Given the description of an element on the screen output the (x, y) to click on. 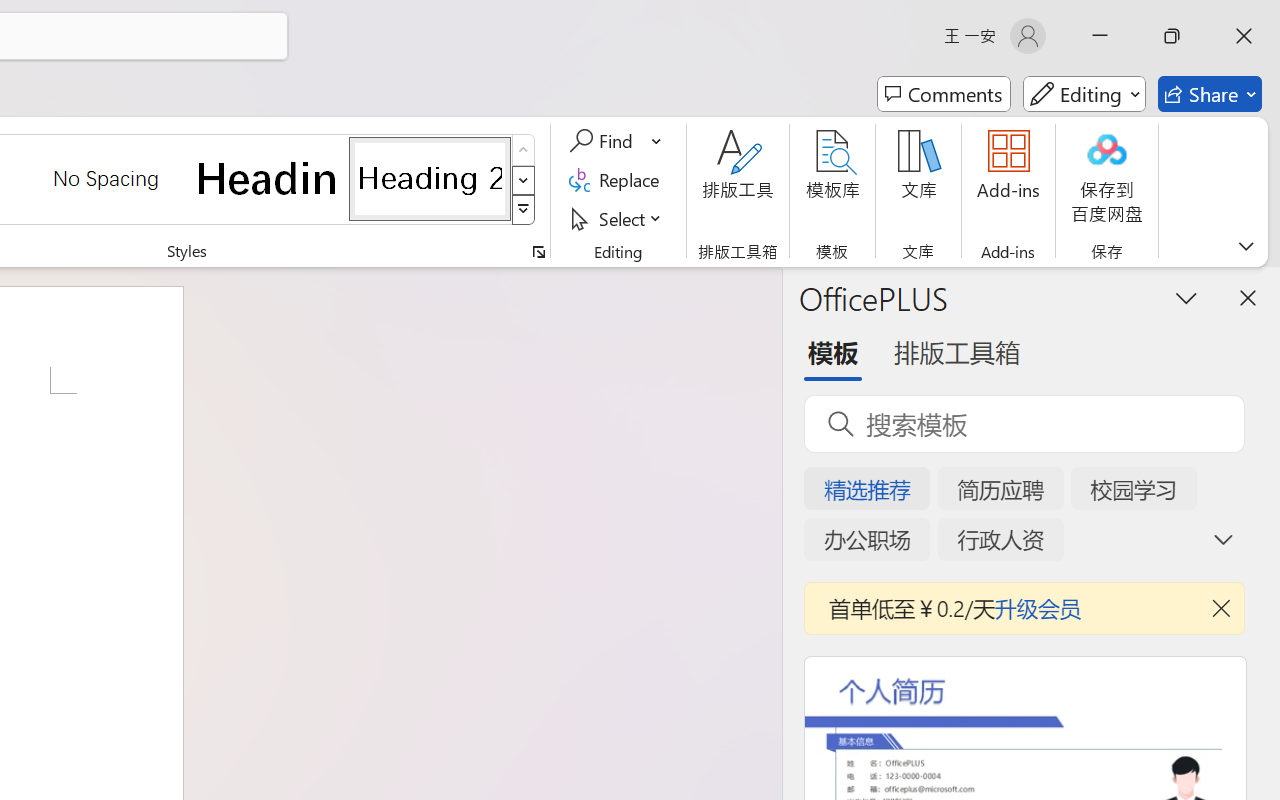
Close (1244, 36)
Restore Down (1172, 36)
Mode (1083, 94)
Row Down (523, 180)
Task Pane Options (1186, 297)
Row up (523, 150)
Comments (943, 94)
Class: NetUIImage (523, 210)
Find (616, 141)
